Given the description of an element on the screen output the (x, y) to click on. 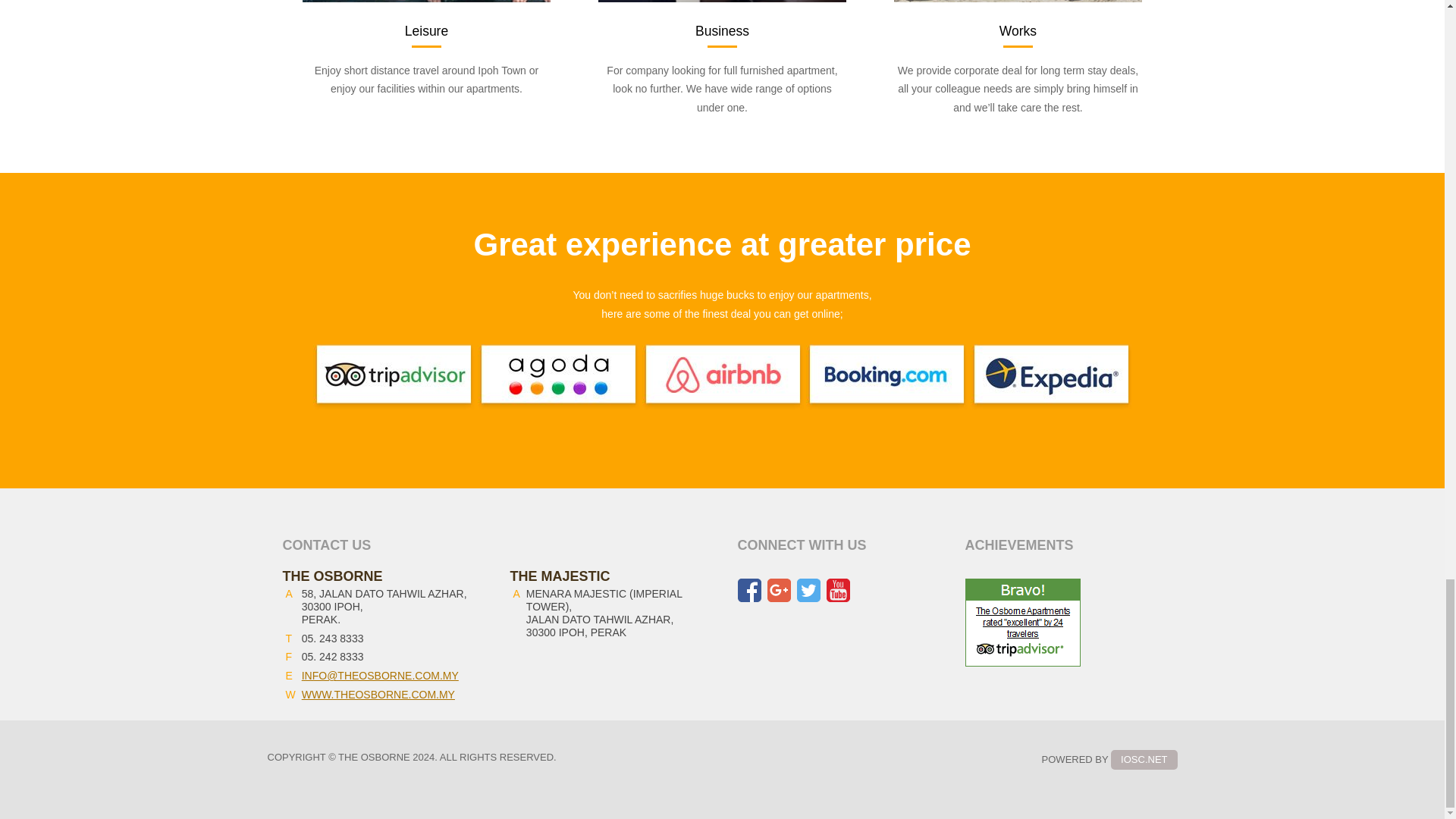
IOSC.net (1143, 759)
WWW.THEOSBORNE.COM.MY (377, 694)
